Given the description of an element on the screen output the (x, y) to click on. 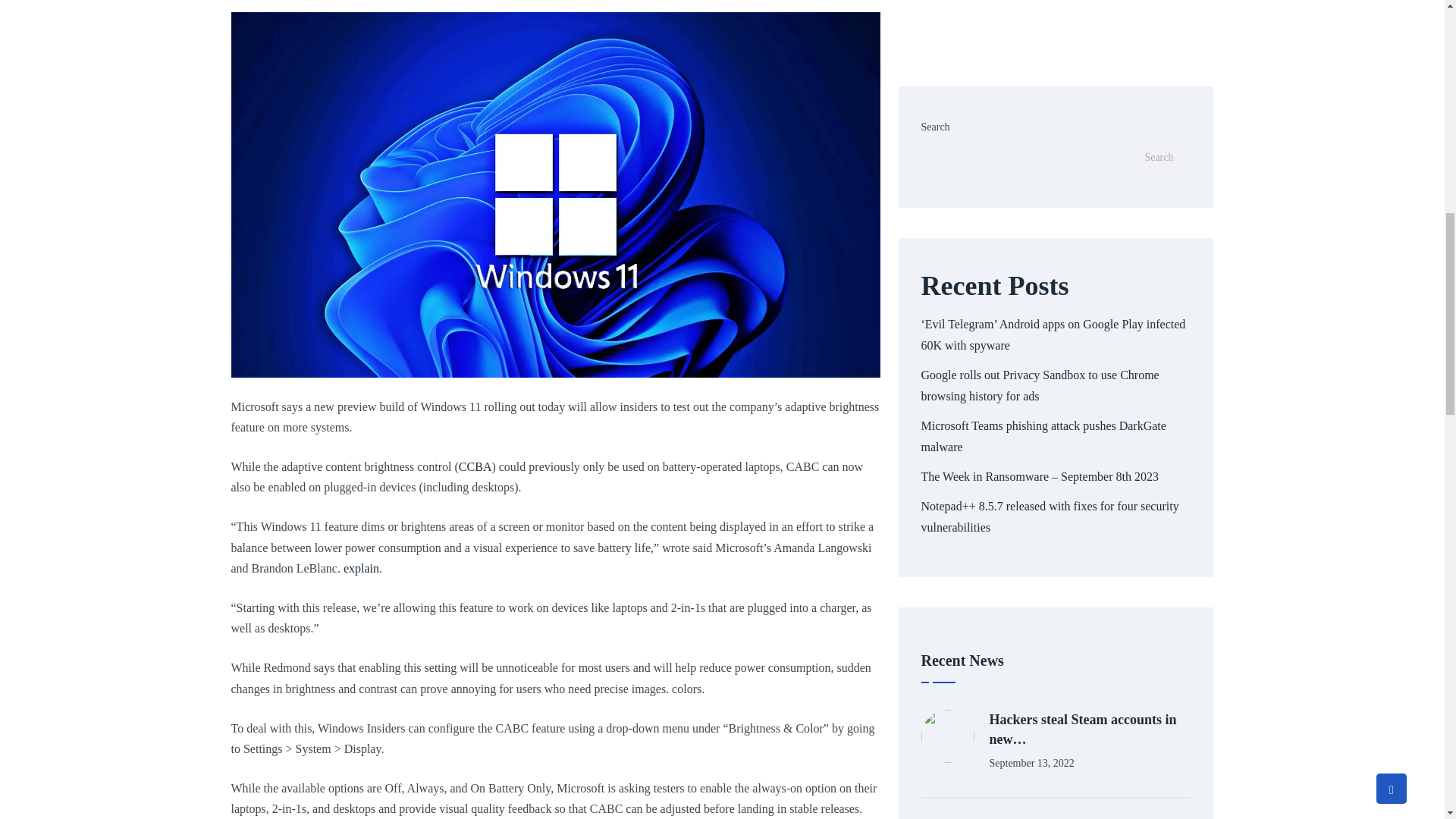
CCBA (475, 466)
explain (360, 567)
